Given the description of an element on the screen output the (x, y) to click on. 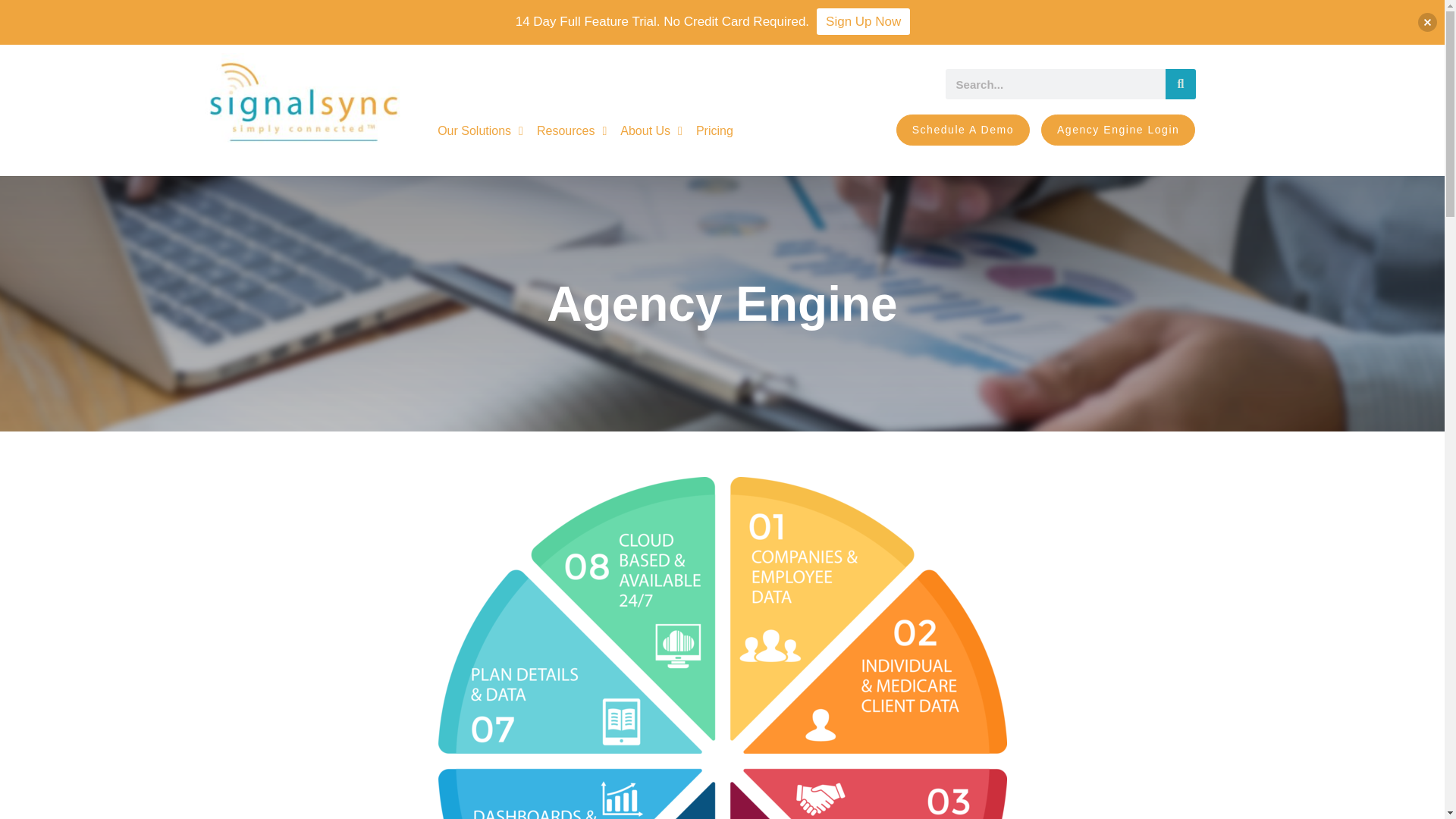
About Us (650, 131)
Our Solutions (479, 131)
Resources (570, 131)
Pricing (713, 131)
